Given the description of an element on the screen output the (x, y) to click on. 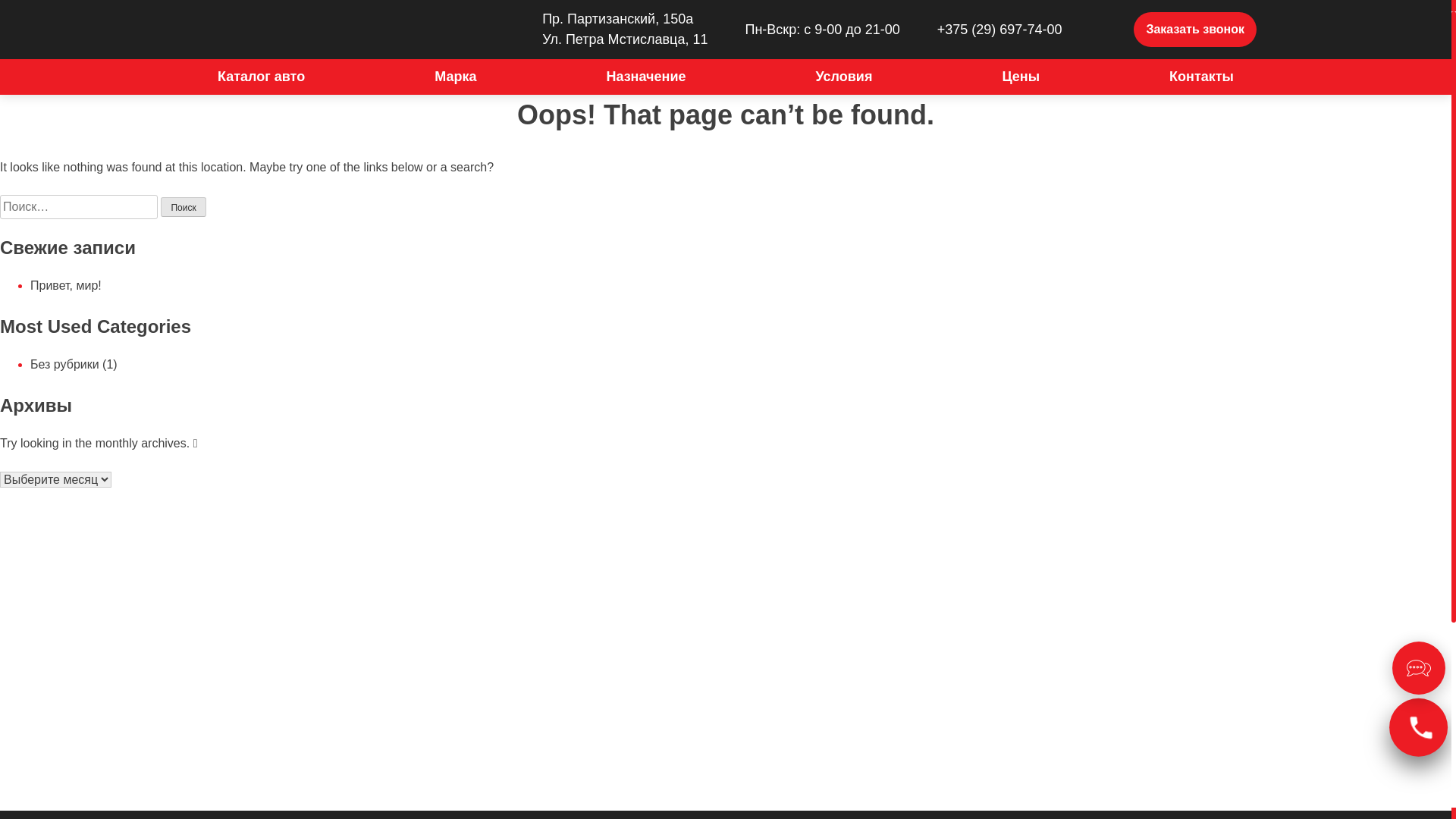
+375 (29) 697-74-00 Element type: text (986, 29)
